Given the description of an element on the screen output the (x, y) to click on. 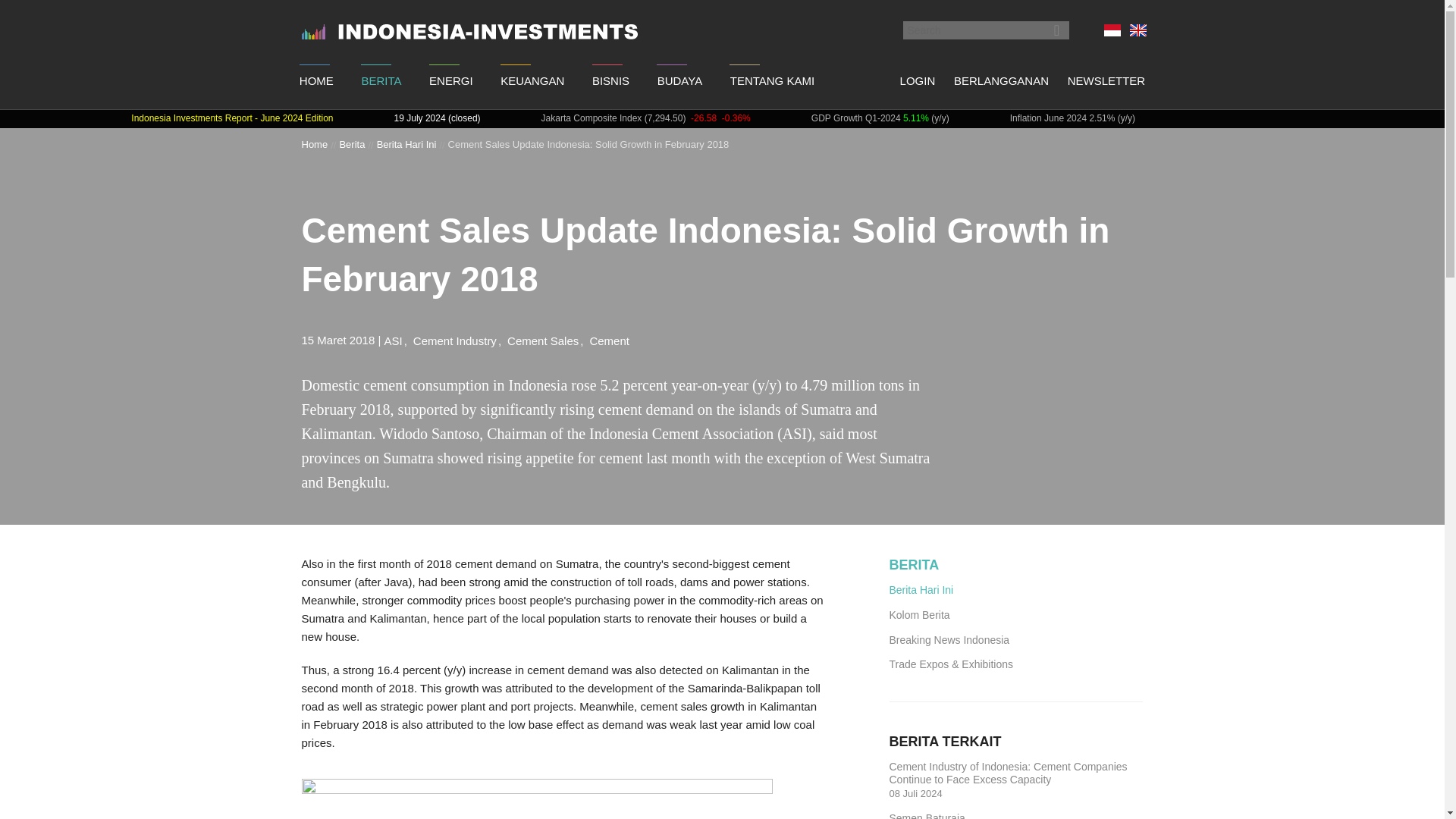
Komoditas (610, 194)
Pengantar (314, 160)
Angka Ekonomi Makro (532, 262)
Kolom Keuangan (532, 125)
HOME (314, 80)
Breaking News Indonesia (380, 194)
Kolom Berita (380, 160)
Anggaran Negara (532, 296)
BERLANGGANAN (1001, 80)
BERITA (380, 80)
